Given the description of an element on the screen output the (x, y) to click on. 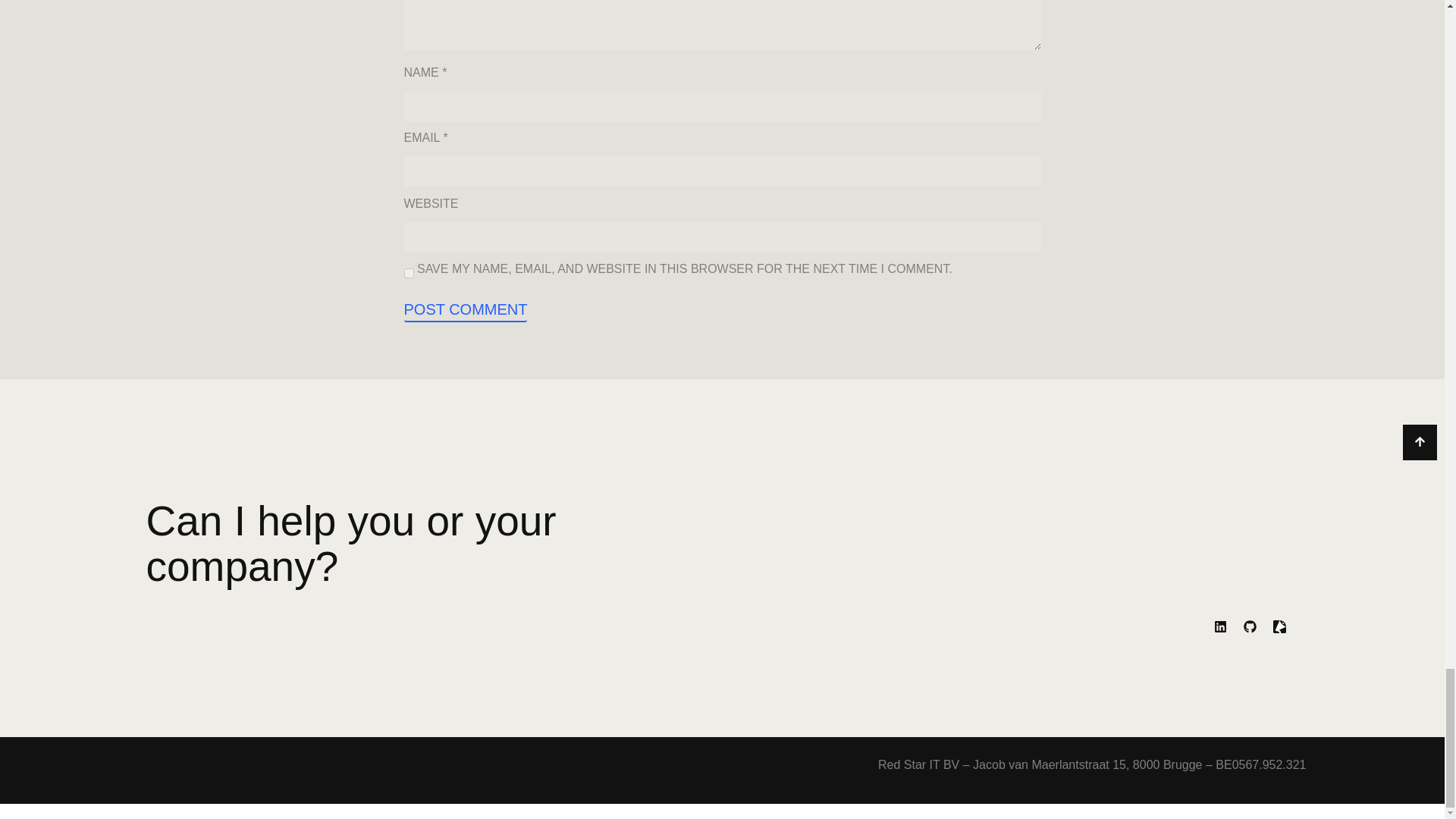
yes (408, 273)
Post Comment (465, 310)
Post Comment (465, 310)
